Given the description of an element on the screen output the (x, y) to click on. 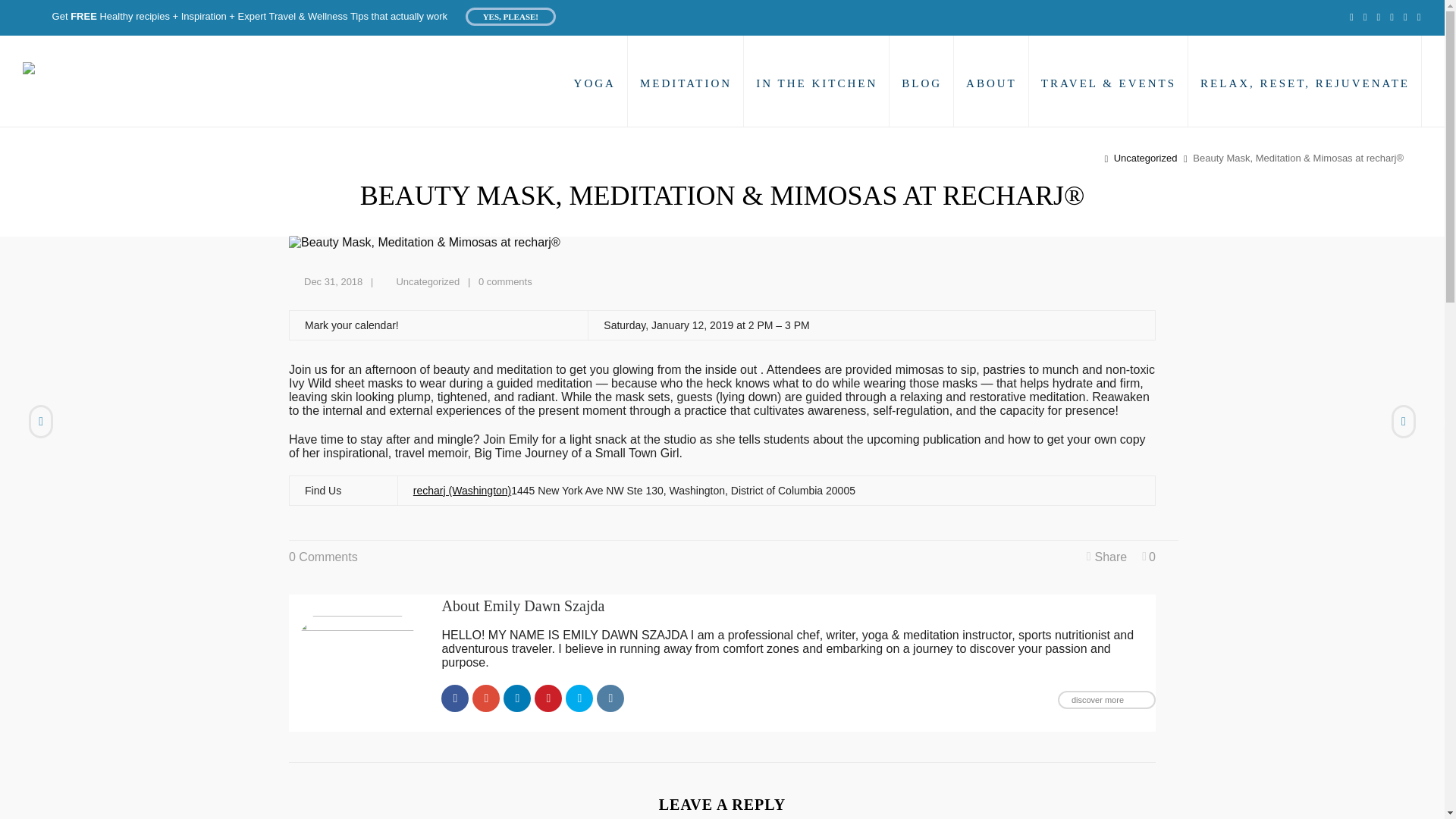
View all posts in Uncategorized (428, 281)
0 Comments (323, 556)
0 comments (505, 281)
